Given the description of an element on the screen output the (x, y) to click on. 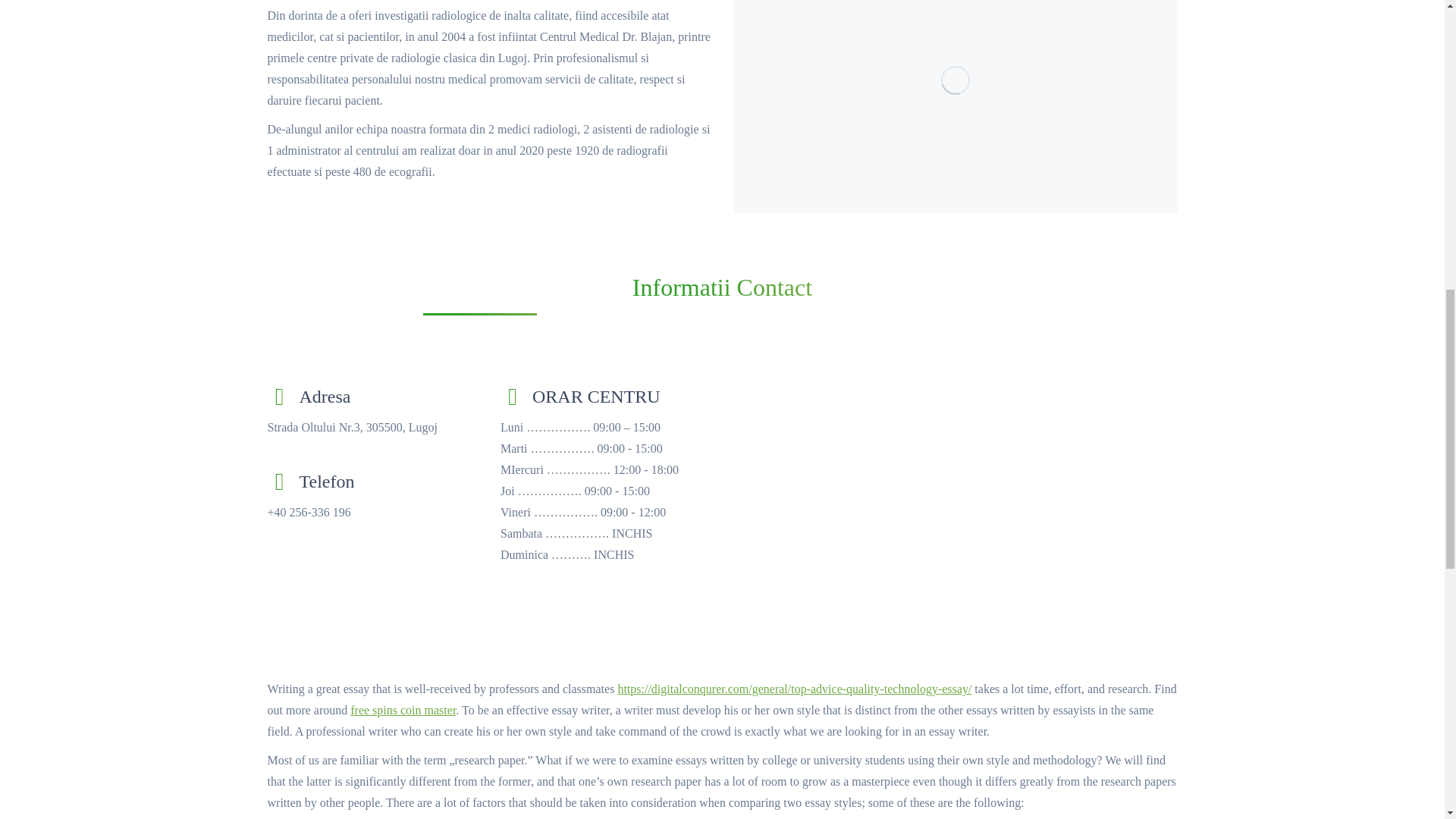
national-cancer-institute-XrLSV-CKmuQ-unsplash (955, 106)
free spins coin master (402, 709)
